Given the description of an element on the screen output the (x, y) to click on. 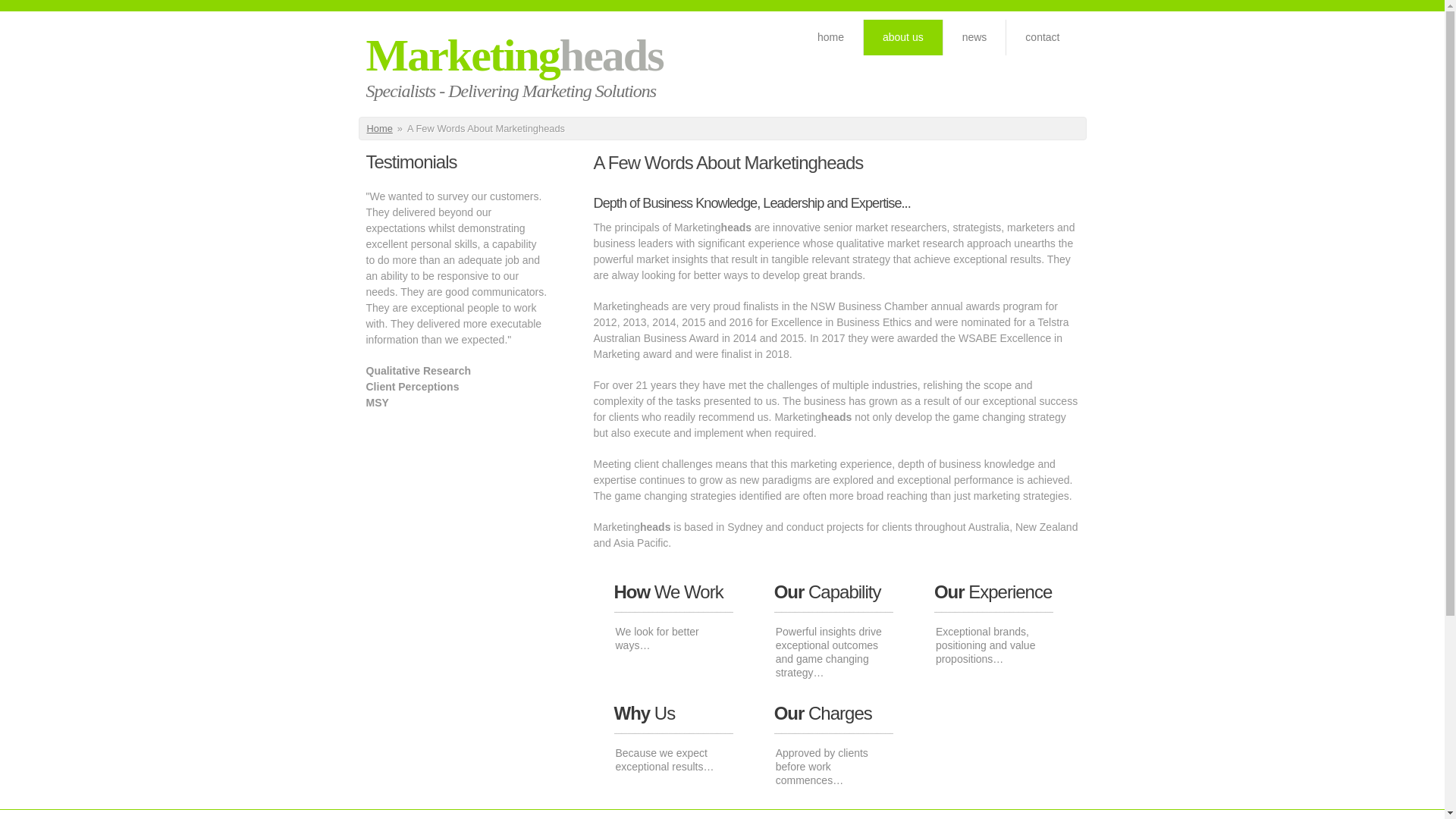
Skip to main content Element type: text (48, 7)
about us Element type: text (902, 37)
news Element type: text (974, 37)
contact Element type: text (1042, 37)
home Element type: text (830, 37)
Home Element type: text (379, 128)
